Given the description of an element on the screen output the (x, y) to click on. 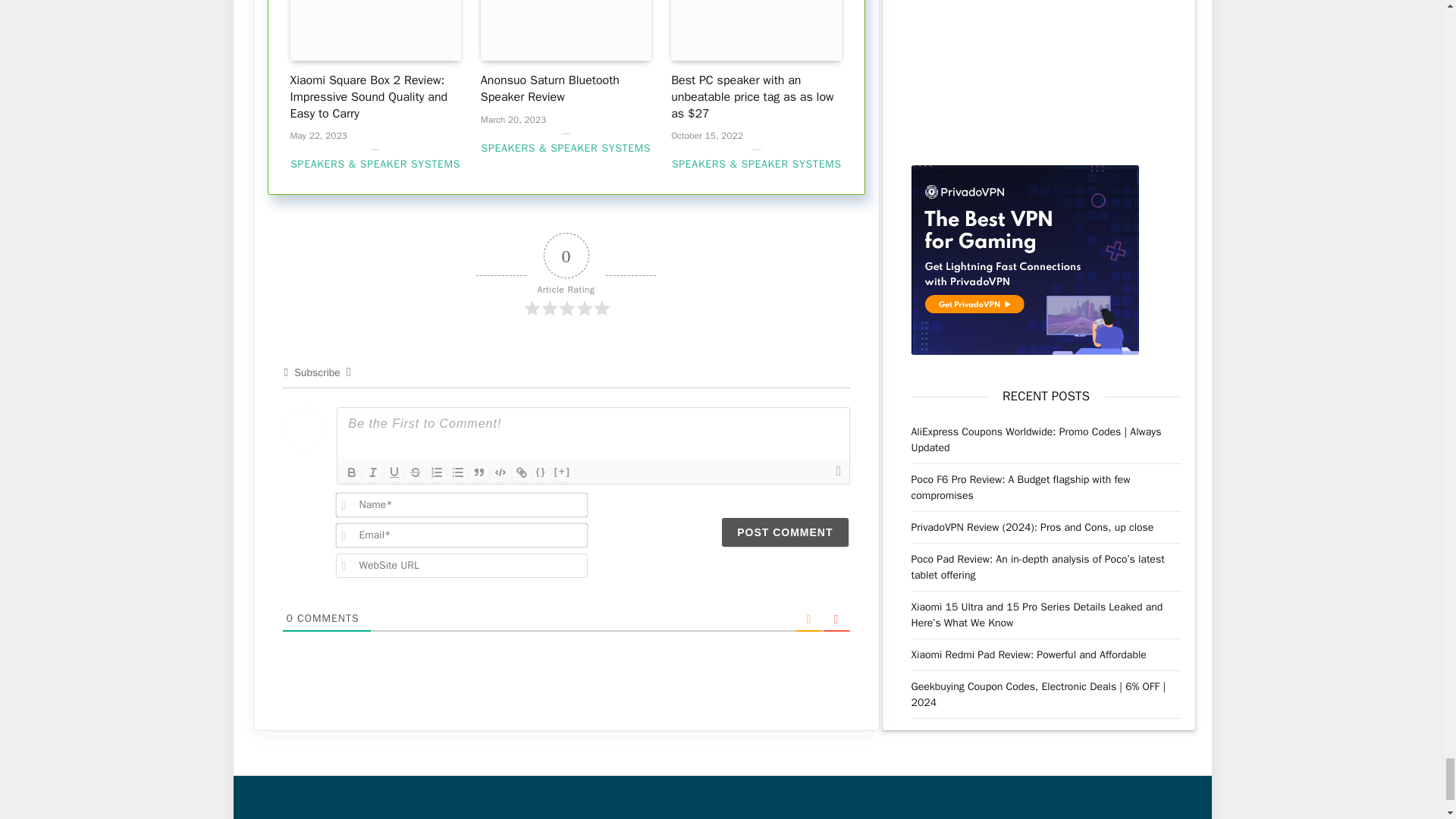
Post Comment (784, 532)
